Given the description of an element on the screen output the (x, y) to click on. 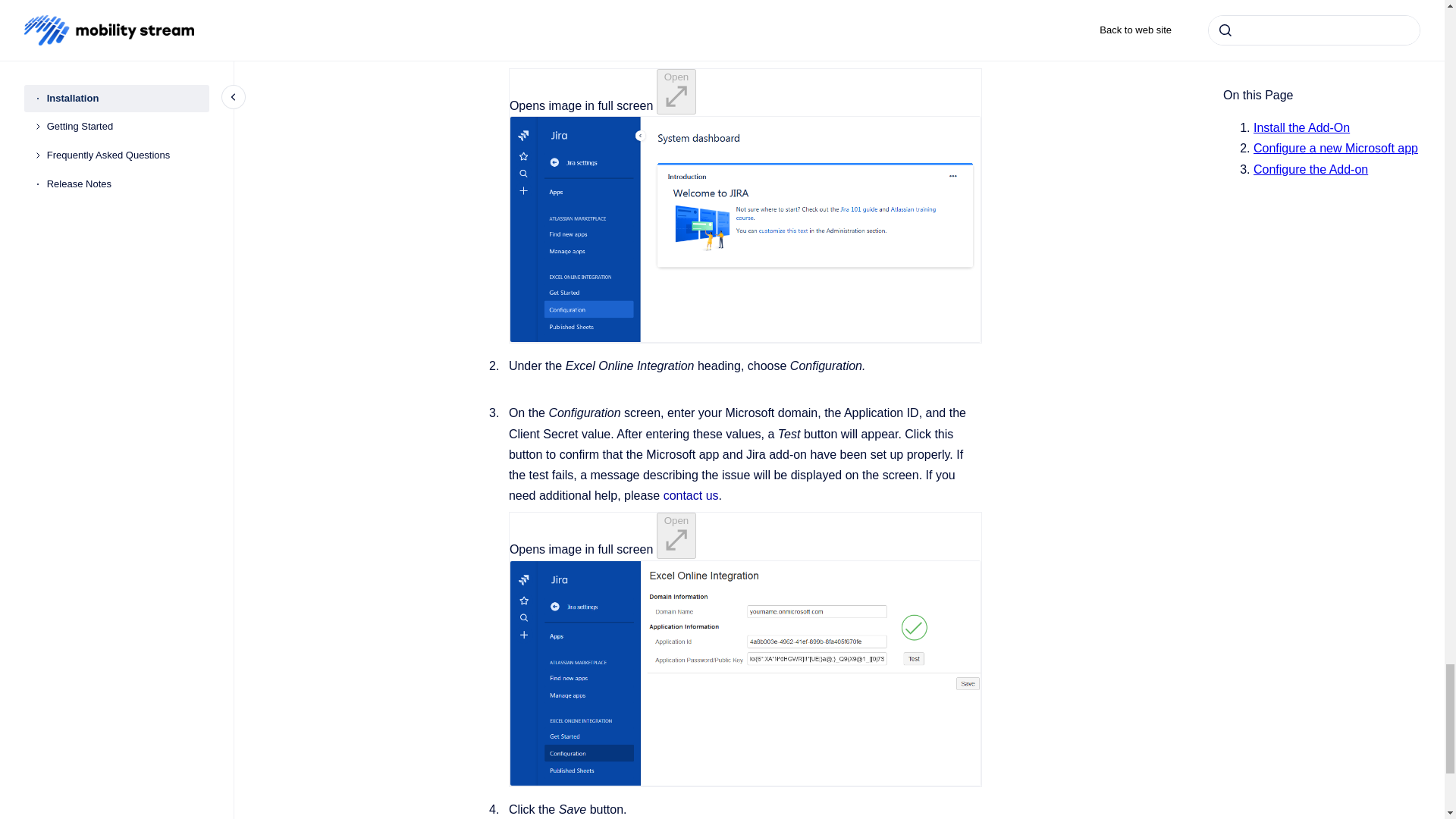
contact us (691, 495)
